Given the description of an element on the screen output the (x, y) to click on. 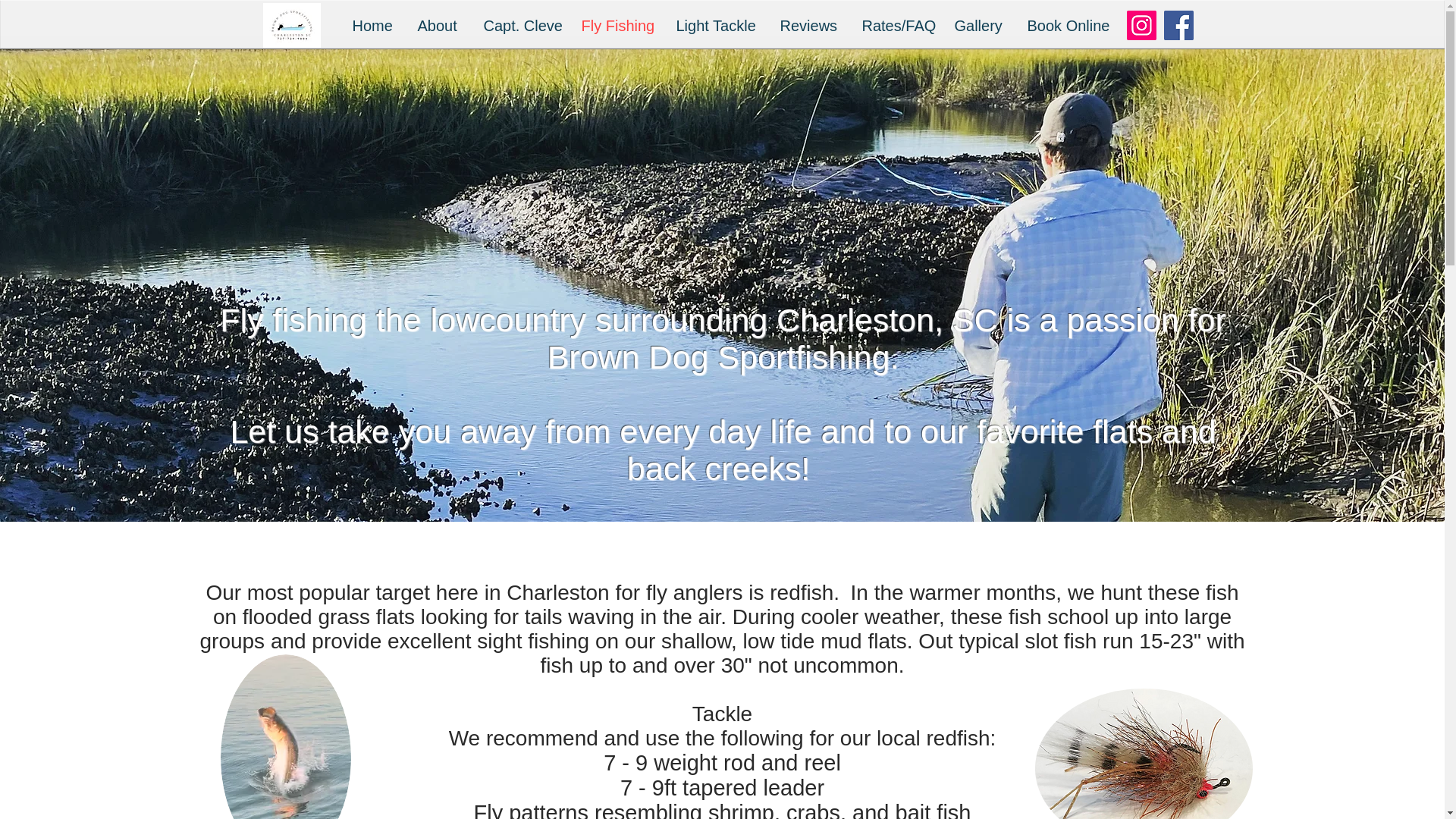
Reviews (809, 25)
Fly Fishing (617, 25)
Capt. Cleve (520, 25)
Light Tackle (715, 25)
About (438, 25)
Book Online (1067, 25)
Home (373, 25)
Gallery (979, 25)
